Given the description of an element on the screen output the (x, y) to click on. 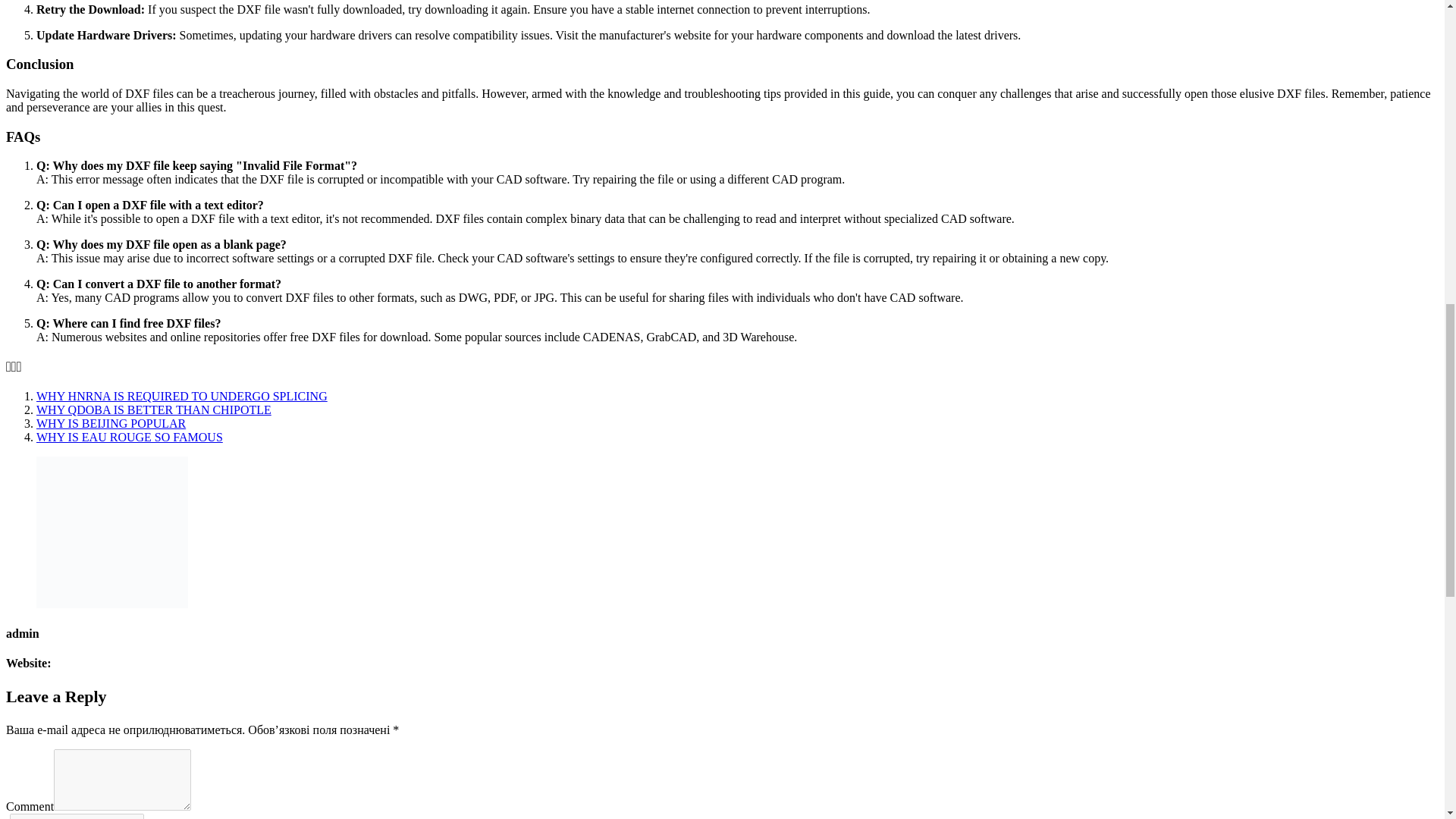
WHY IS EAU ROUGE SO FAMOUS (129, 436)
WHY QDOBA IS BETTER THAN CHIPOTLE (153, 409)
WHY IS BEIJING POPULAR (111, 422)
WHY HNRNA IS REQUIRED TO UNDERGO SPLICING (181, 395)
WHY HNRNA IS REQUIRED TO UNDERGO SPLICING (181, 395)
WHY IS BEIJING POPULAR (111, 422)
WHY IS EAU ROUGE SO FAMOUS (129, 436)
WHY QDOBA IS BETTER THAN CHIPOTLE (153, 409)
